Given the description of an element on the screen output the (x, y) to click on. 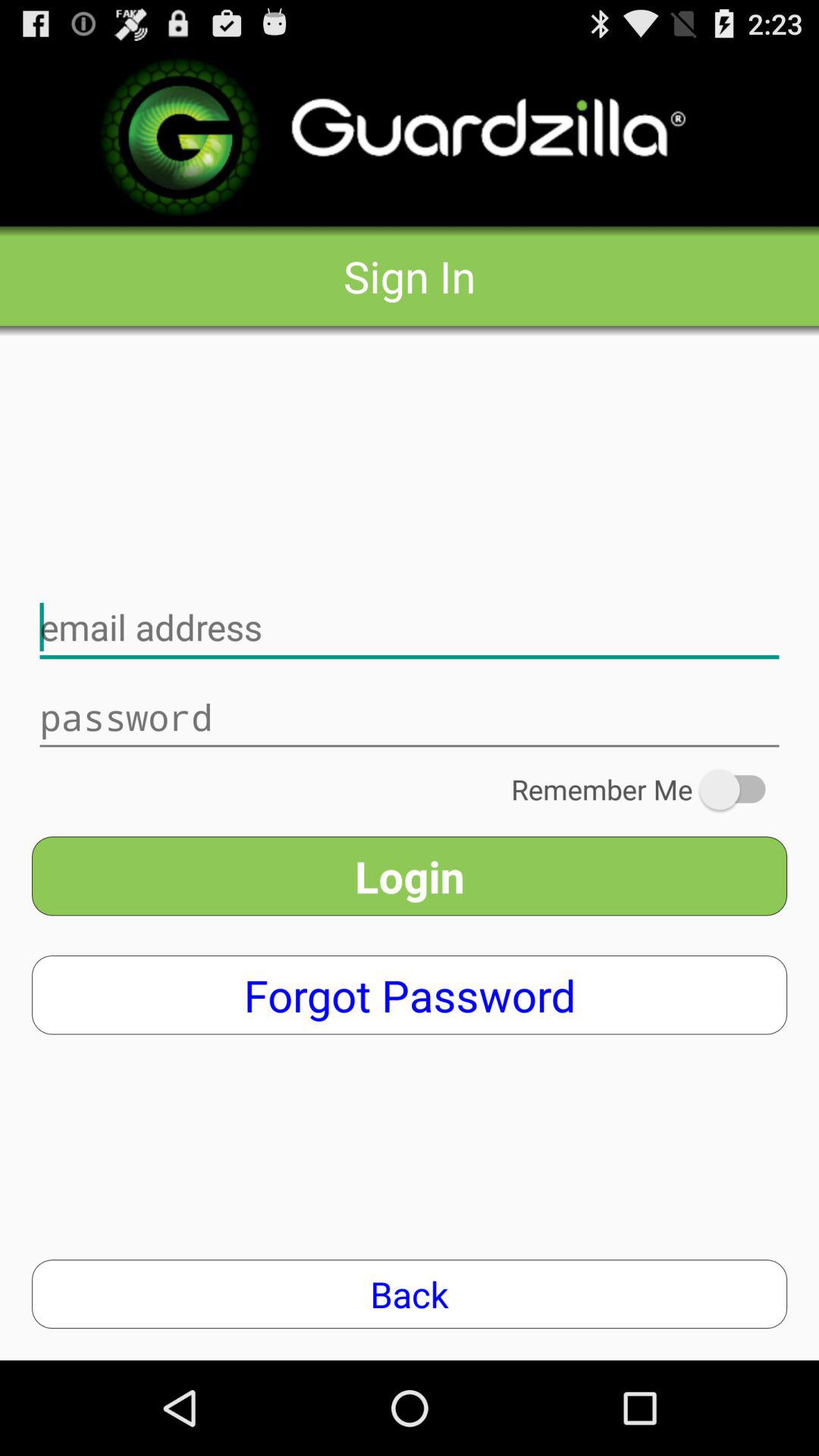
swipe until the back app (409, 1293)
